Given the description of an element on the screen output the (x, y) to click on. 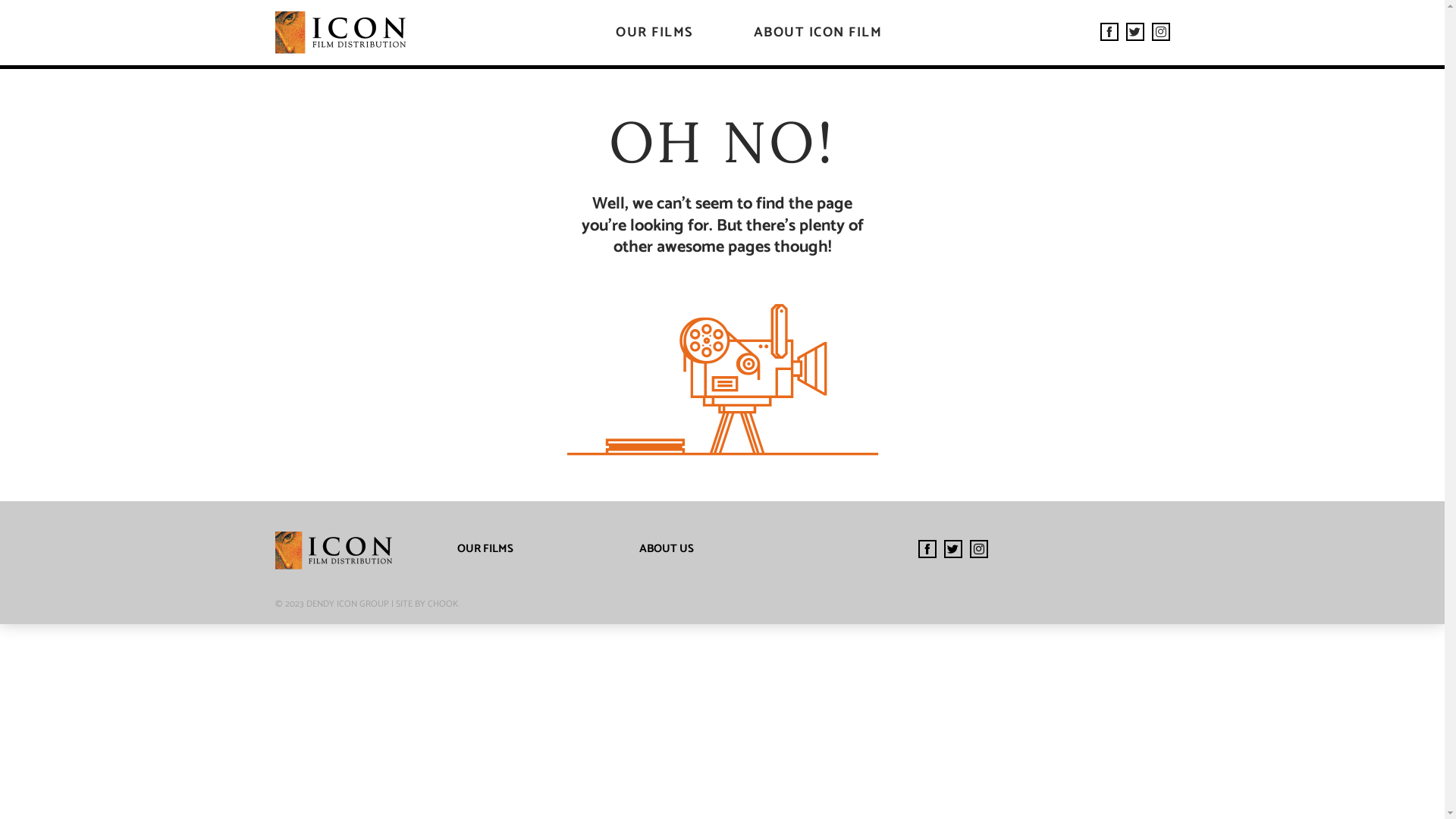
TWITTER Element type: text (1134, 31)
OUR FILMS Element type: text (484, 548)
INSTAGRAM Element type: text (1160, 31)
ABOUT ICON FILM Element type: text (817, 32)
TWITTER Element type: text (952, 548)
FACEBOOK Element type: text (926, 548)
INSTAGRAM Element type: text (978, 548)
ABOUT US Element type: text (665, 548)
FACEBOOK Element type: text (1108, 31)
CHOOK Element type: text (442, 603)
OUR FILMS Element type: text (654, 32)
